Given the description of an element on the screen output the (x, y) to click on. 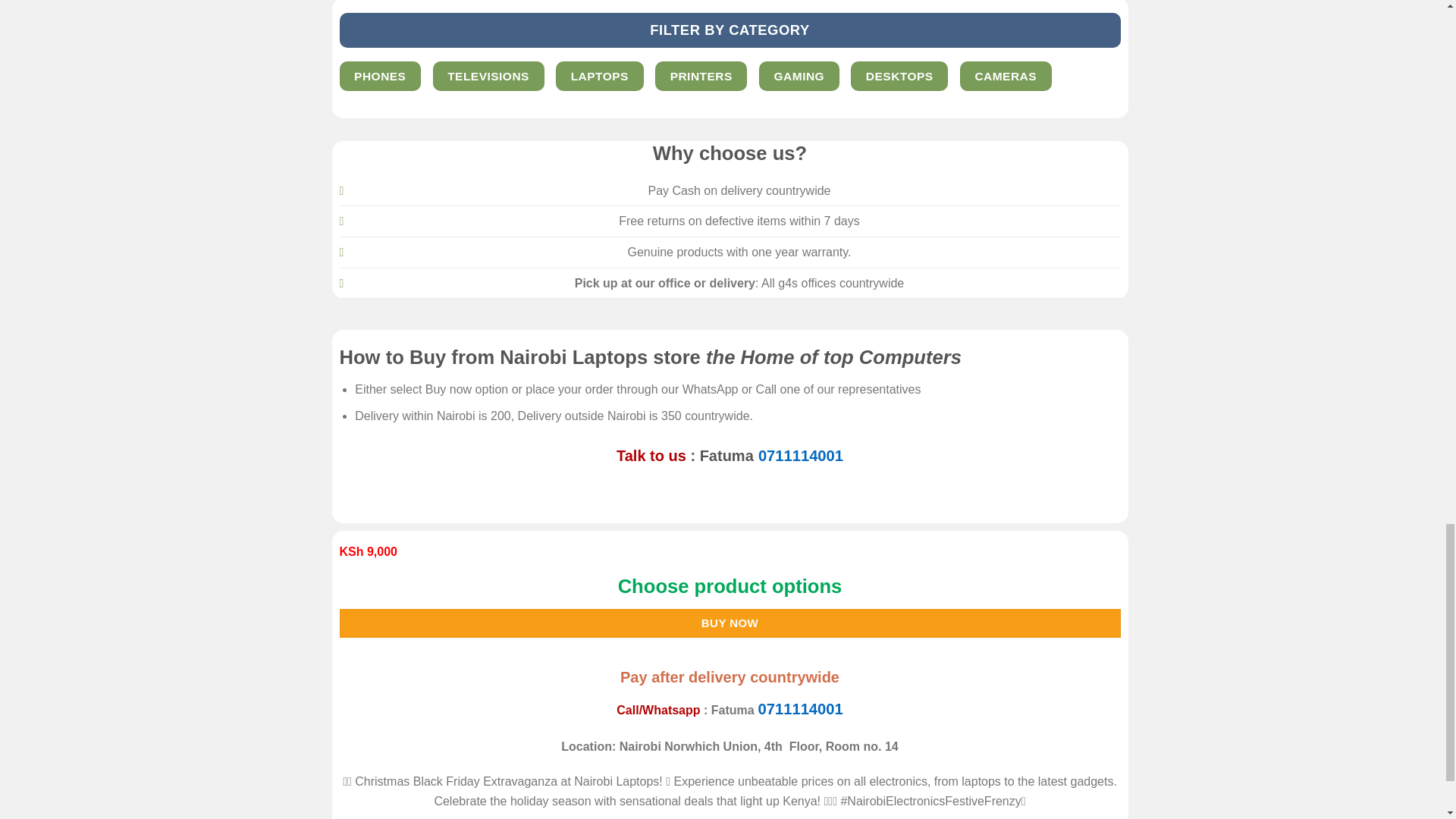
FILTER BY CATEGORY (730, 29)
